Given the description of an element on the screen output the (x, y) to click on. 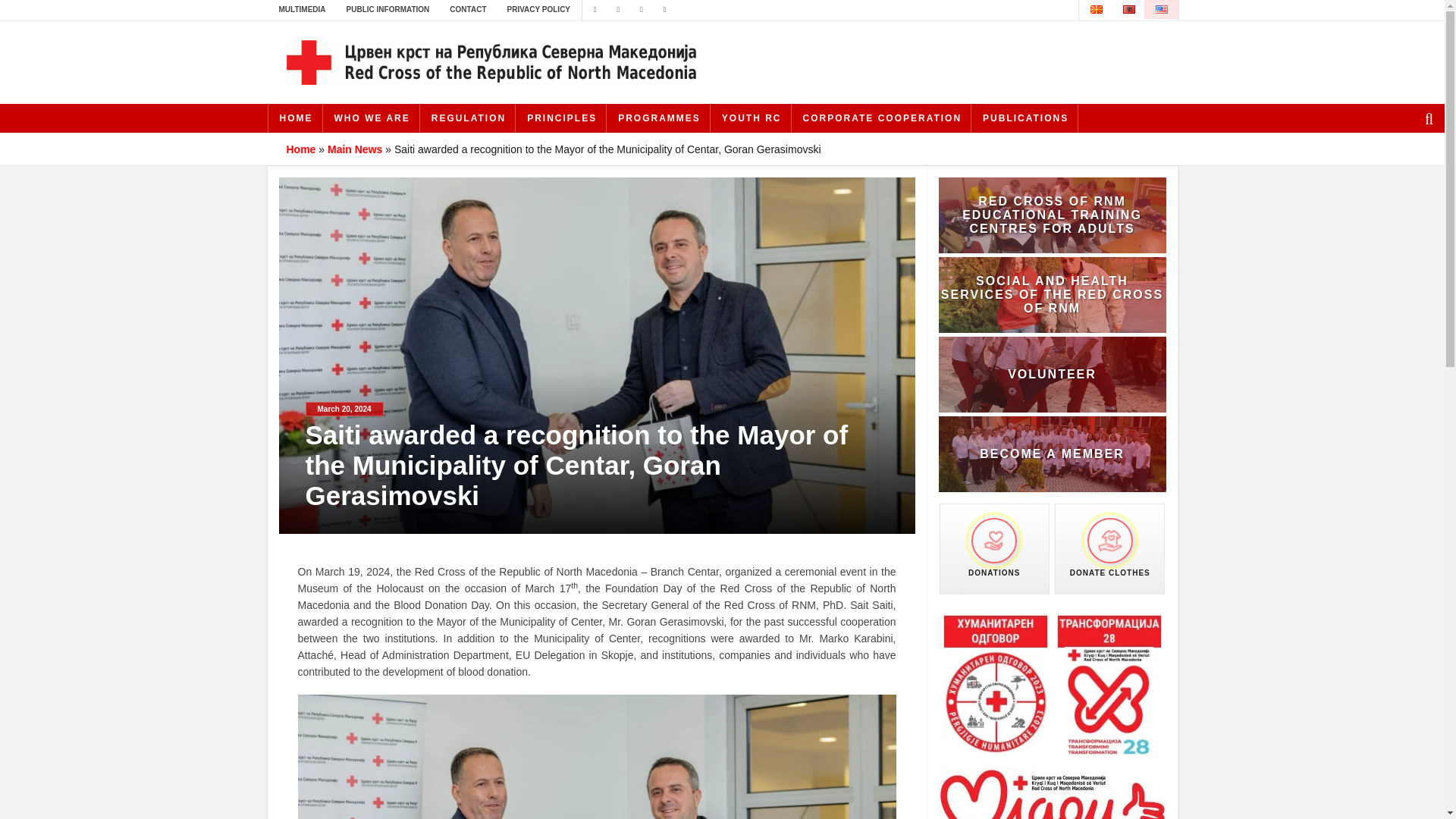
PRIVACY POLICY (537, 9)
MULTIMEDIA (301, 9)
WHO WE ARE (372, 118)
CONTACT (467, 9)
HOME (295, 118)
PUBLIC INFORMATION (387, 9)
REGULATION (468, 118)
